Given the description of an element on the screen output the (x, y) to click on. 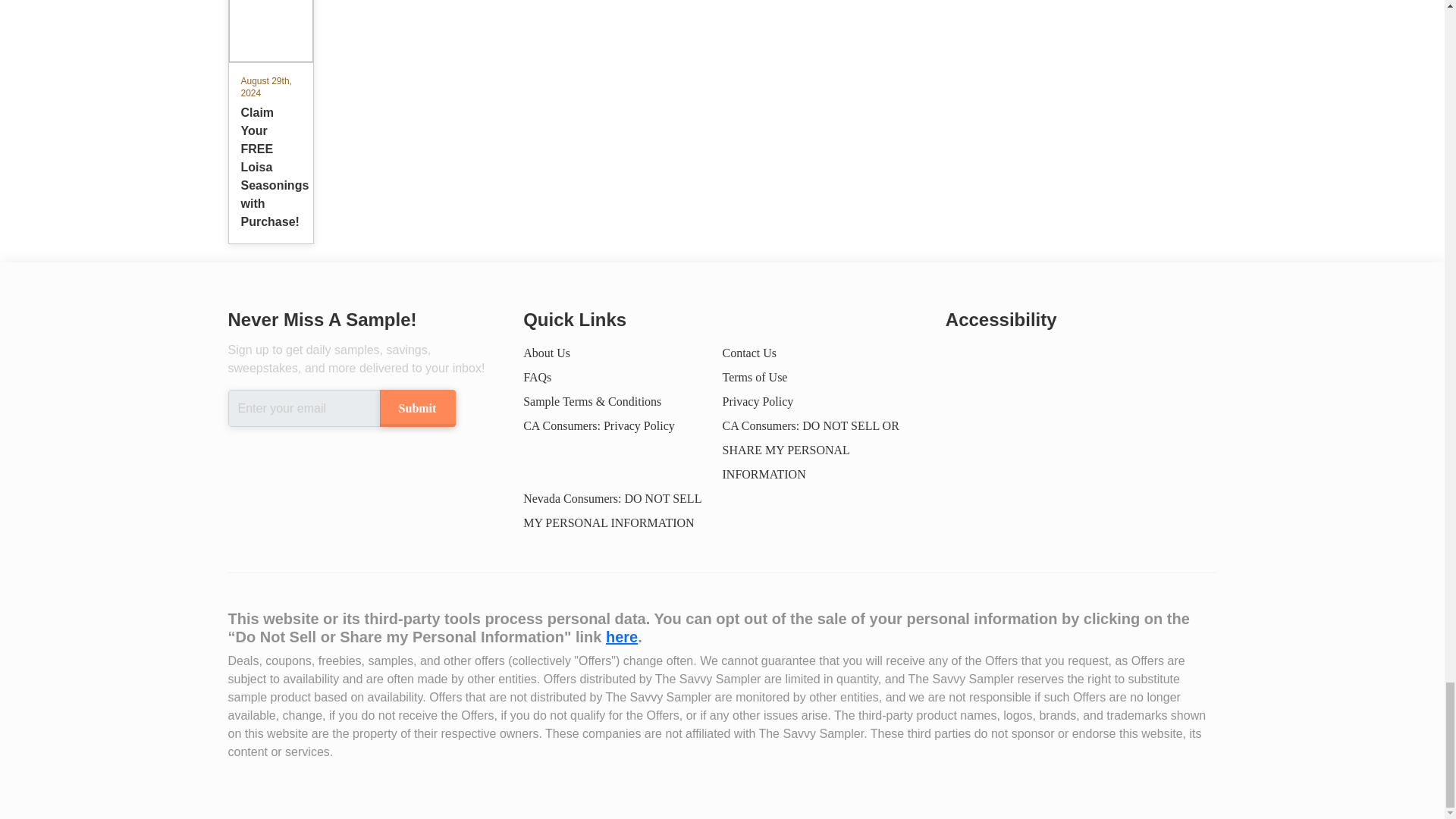
Nevada Consumers: DO NOT SELL MY PERSONAL INFORMATION (611, 510)
Terms of Use (754, 377)
Submit (416, 407)
FAQs (536, 377)
About Us (546, 352)
Contact Us (749, 352)
Privacy Policy (757, 400)
CA Consumers: DO NOT SELL OR SHARE MY PERSONAL INFORMATION (810, 449)
here (621, 636)
CA Consumers: Privacy Policy (598, 425)
